Given the description of an element on the screen output the (x, y) to click on. 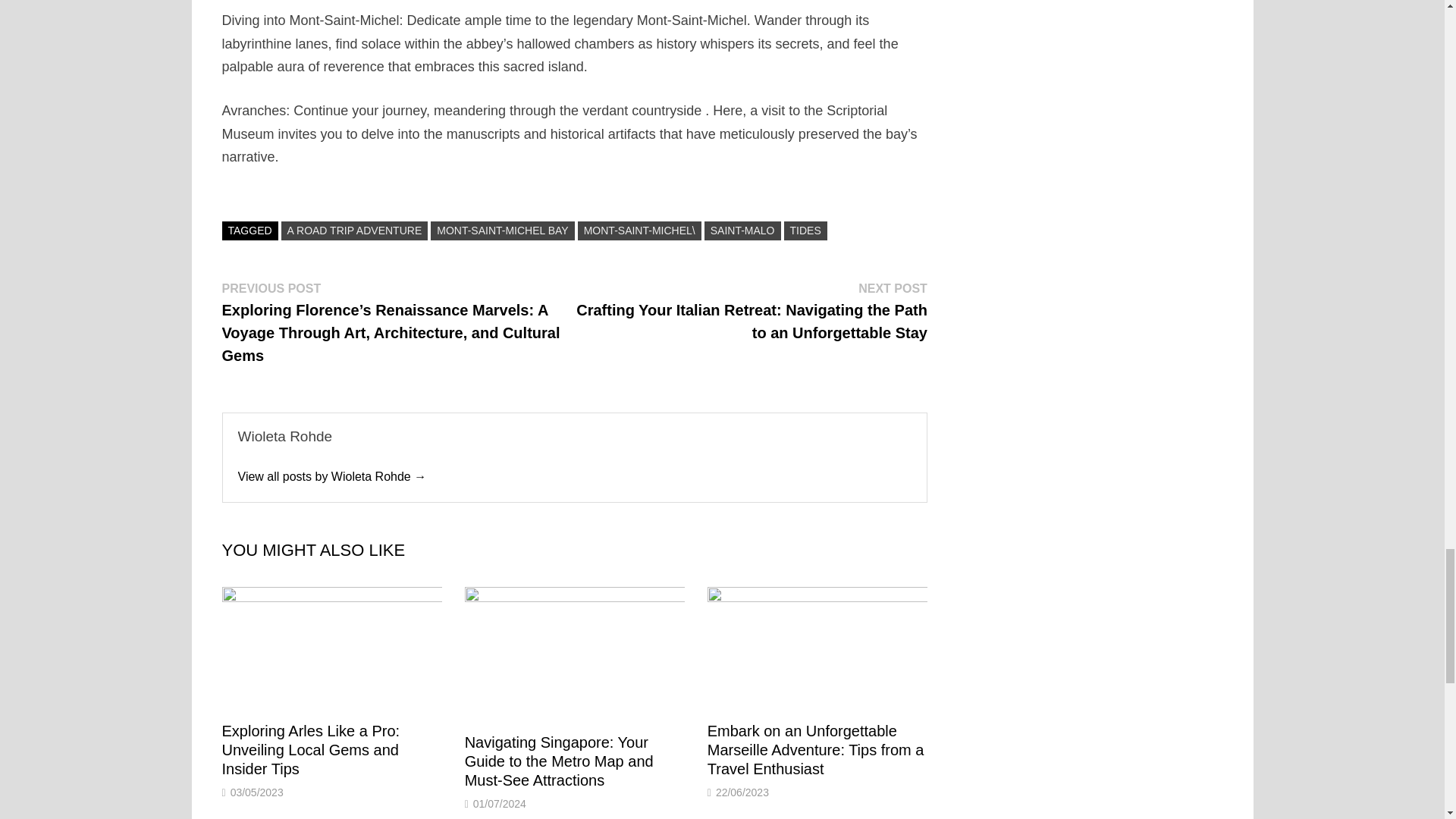
SAINT-MALO (742, 230)
TIDES (805, 230)
MONT-SAINT-MICHEL BAY (501, 230)
Wioleta Rohde (332, 476)
A ROAD TRIP ADVENTURE (354, 230)
